Given the description of an element on the screen output the (x, y) to click on. 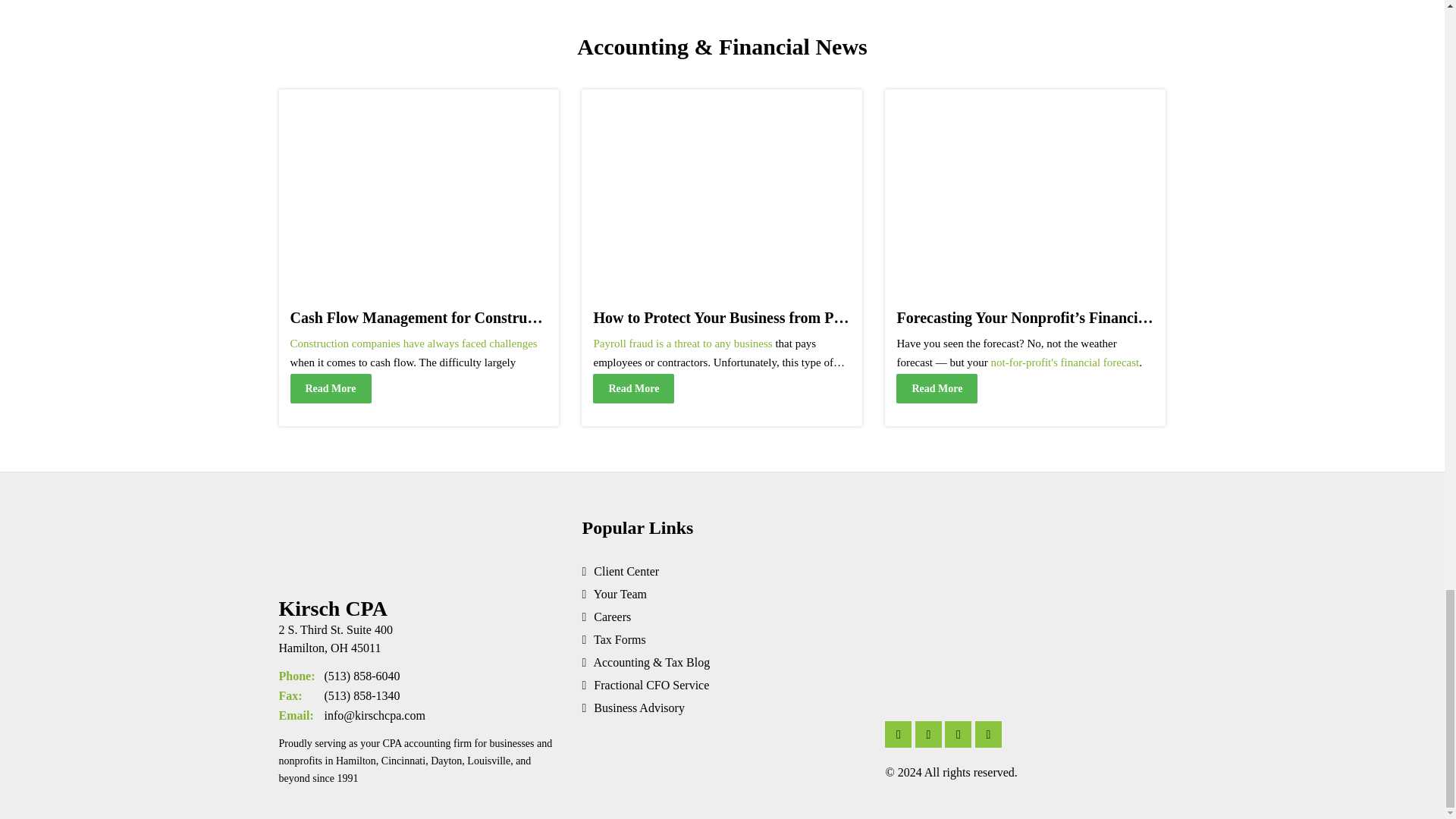
Linkedin (898, 734)
Twitter (957, 734)
Instagram (928, 734)
Kirsch CPA Group (346, 542)
YouTube (988, 734)
